Given the description of an element on the screen output the (x, y) to click on. 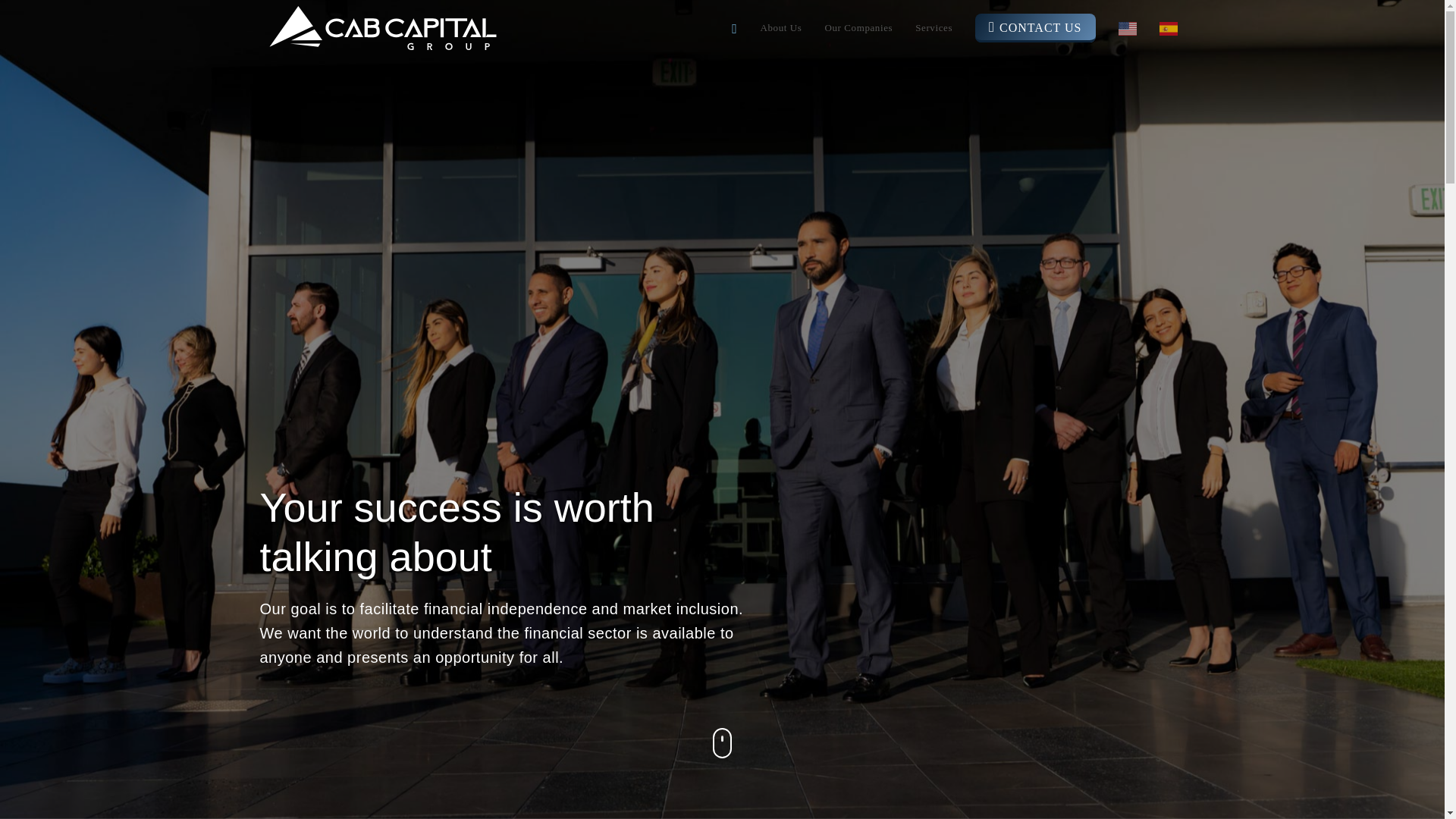
Our Companies (858, 28)
CONTACT US (1034, 28)
About Us (780, 28)
Services (933, 28)
